Given the description of an element on the screen output the (x, y) to click on. 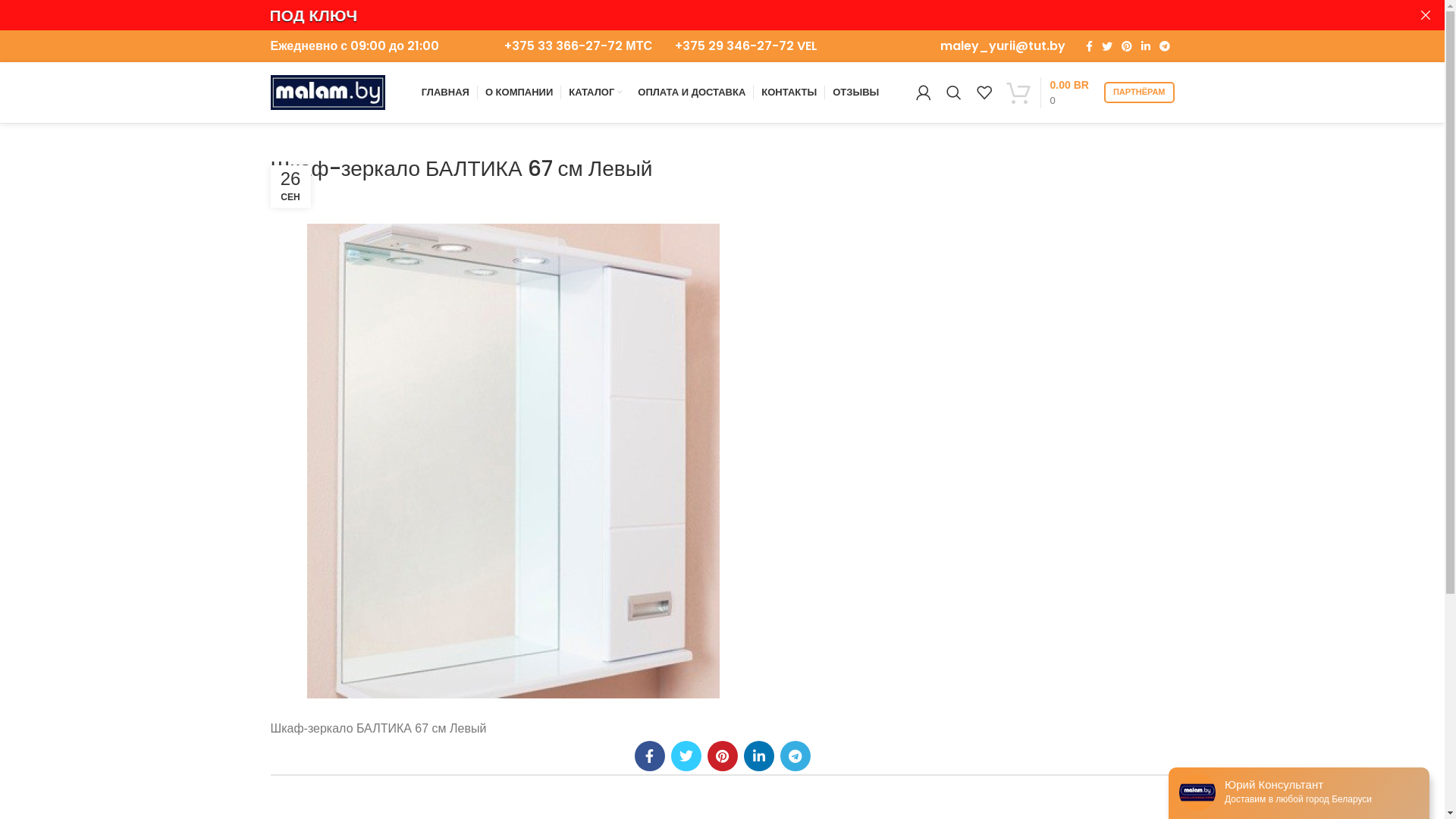
0
0.00 BR Element type: text (1047, 92)
